Given the description of an element on the screen output the (x, y) to click on. 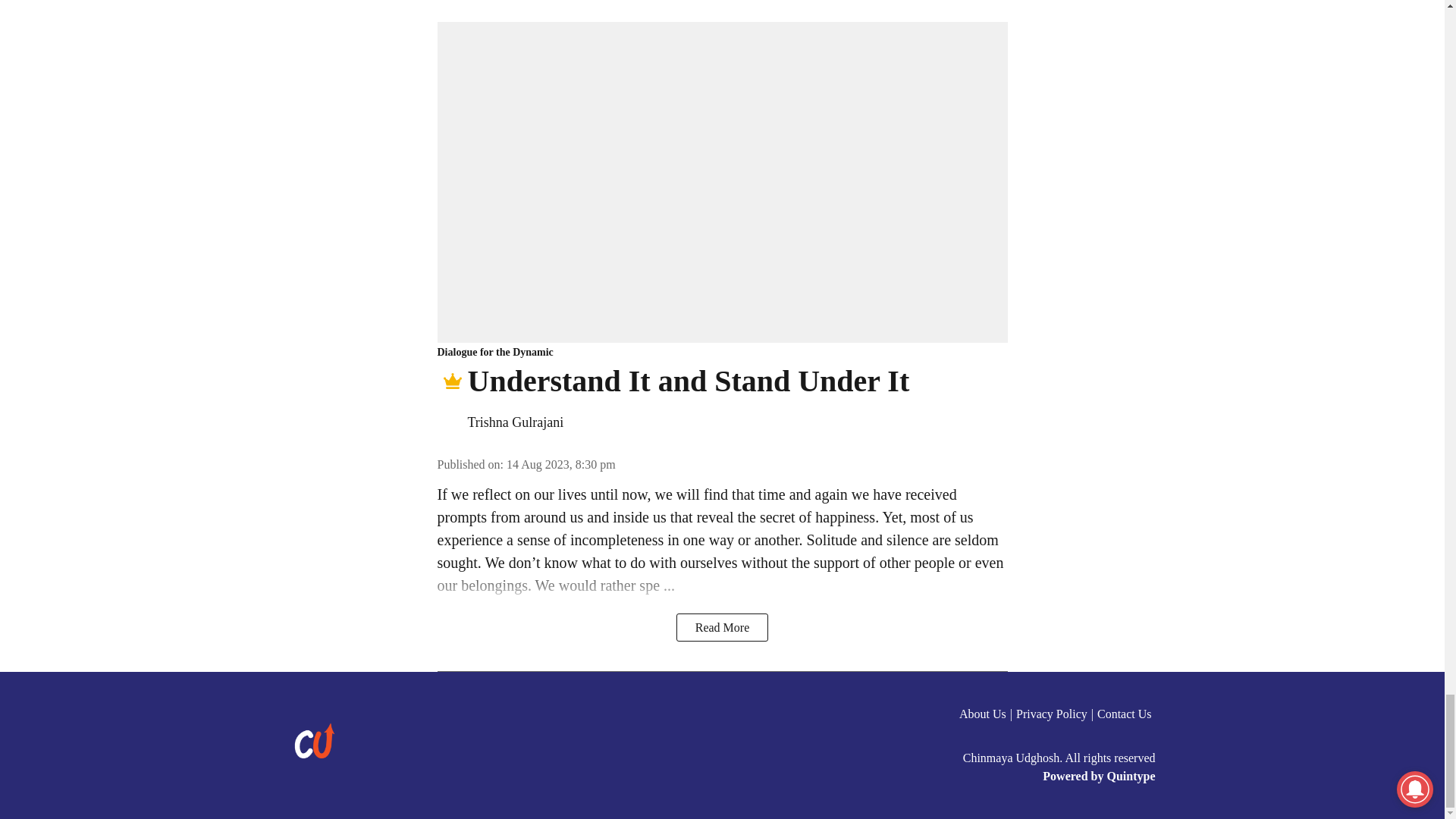
2023-08-14 12:30 (560, 463)
